Given the description of an element on the screen output the (x, y) to click on. 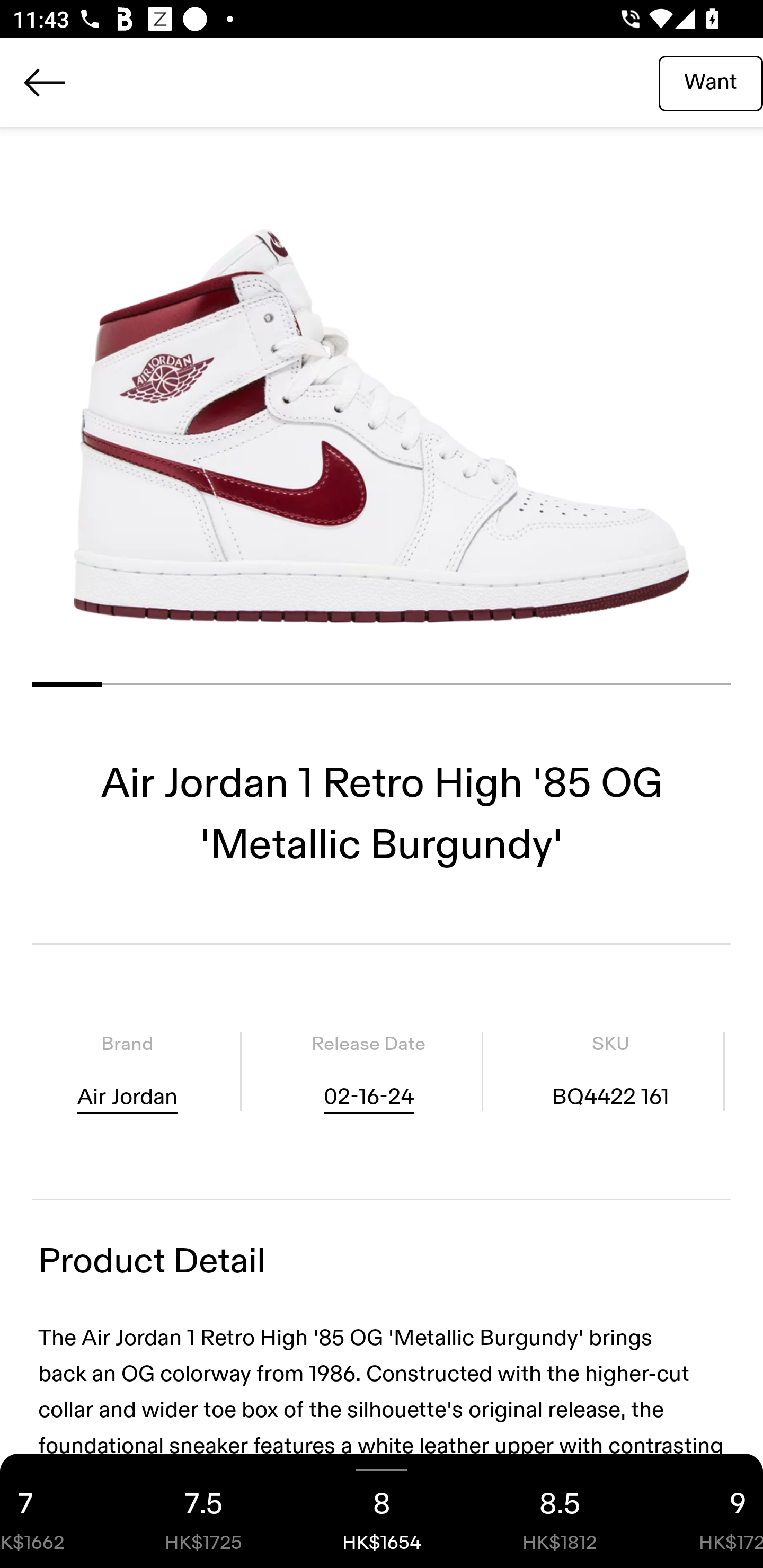
Want (710, 82)
Brand Air Jordan (126, 1070)
Release Date 02-16-24 (368, 1070)
SKU BQ4422 161 (609, 1070)
7 HK$1662 (57, 1510)
7.5 HK$1725 (203, 1510)
8 HK$1654 (381, 1510)
8.5 HK$1812 (559, 1510)
9 HK$1725 (705, 1510)
